Given the description of an element on the screen output the (x, y) to click on. 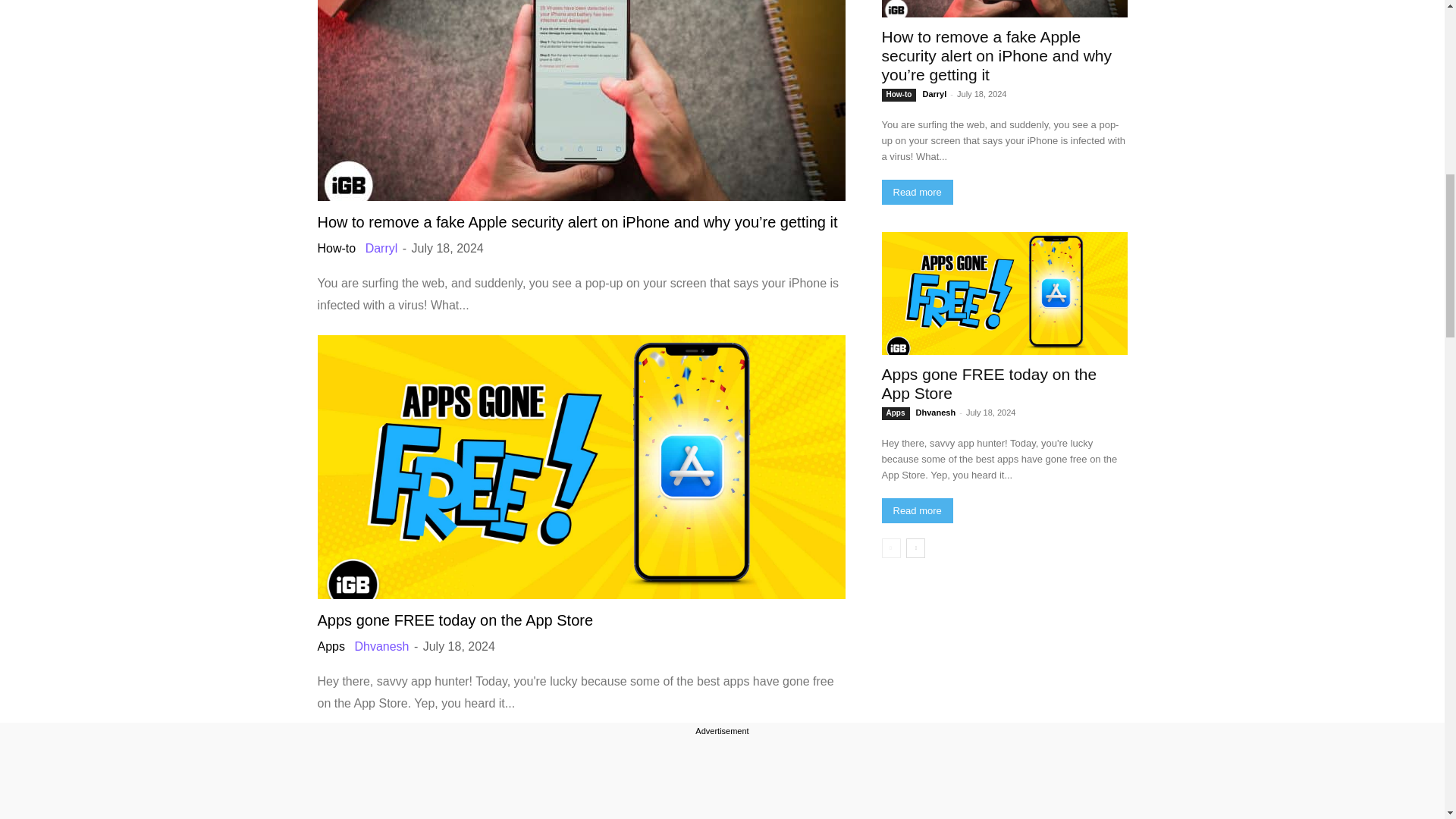
Apps gone FREE today on the App Store (454, 619)
Darryl (381, 247)
Apps gone FREE today on the App Store (454, 619)
iPad and iPhone apps on SALE today! (580, 775)
How-to (336, 248)
Apps (330, 647)
Dhvanesh (381, 645)
